Given the description of an element on the screen output the (x, y) to click on. 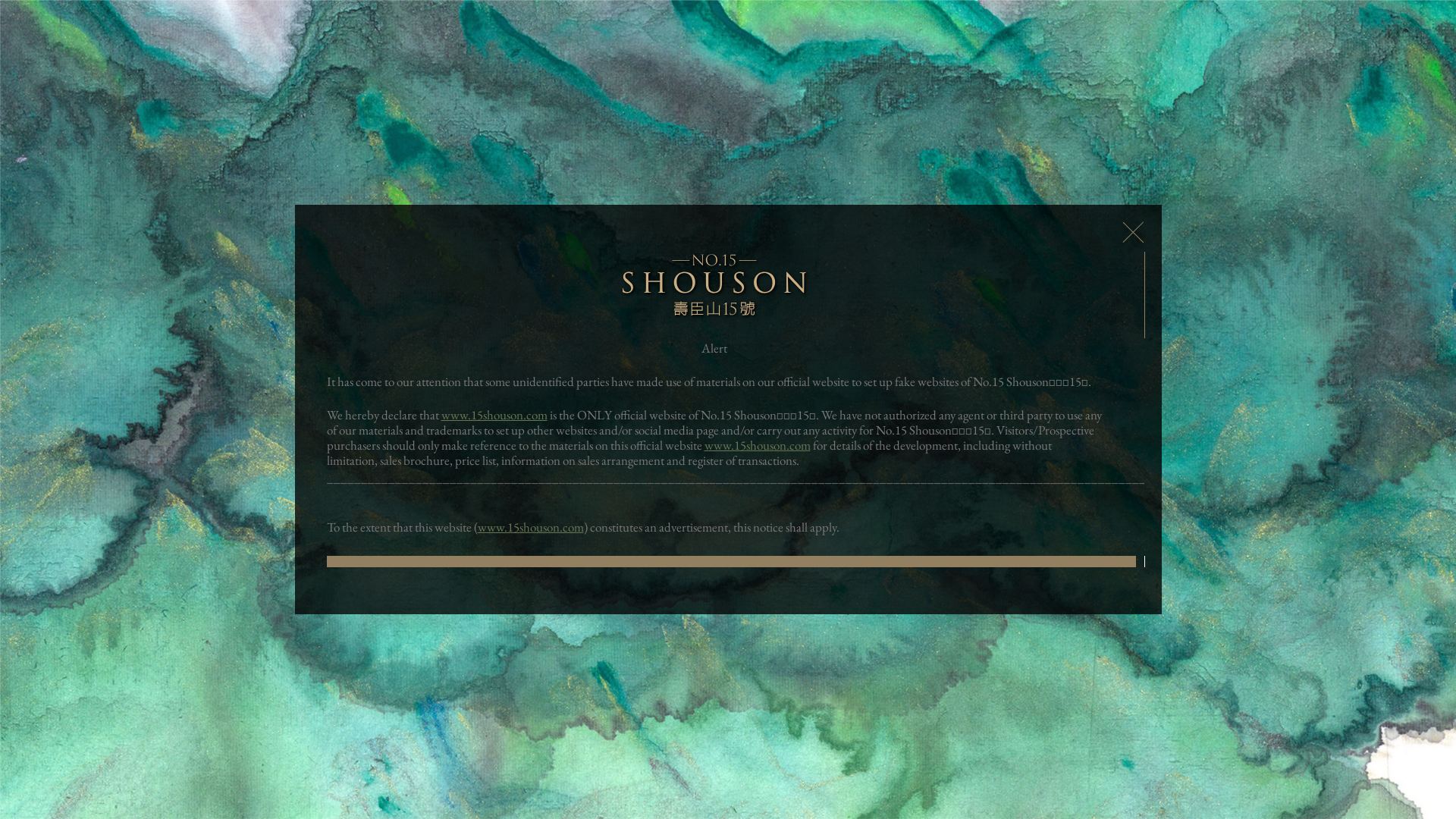
Deed of Mutual Covenant Element type: text (937, 119)
Register of Transactions Element type: text (796, 119)
www.15shouson.com Element type: text (530, 526)
www.15shouson.com Element type: text (756, 444)
Sales Brochure Element type: text (378, 119)
Aerial Photograph Element type: text (1068, 119)
Tender Documents Element type: text (669, 119)
www.15shouson.com Element type: text (494, 414)
www.15shouson.com Element type: text (436, 675)
Price List Element type: text (461, 119)
Sales Arrangements Element type: text (554, 119)
